Given the description of an element on the screen output the (x, y) to click on. 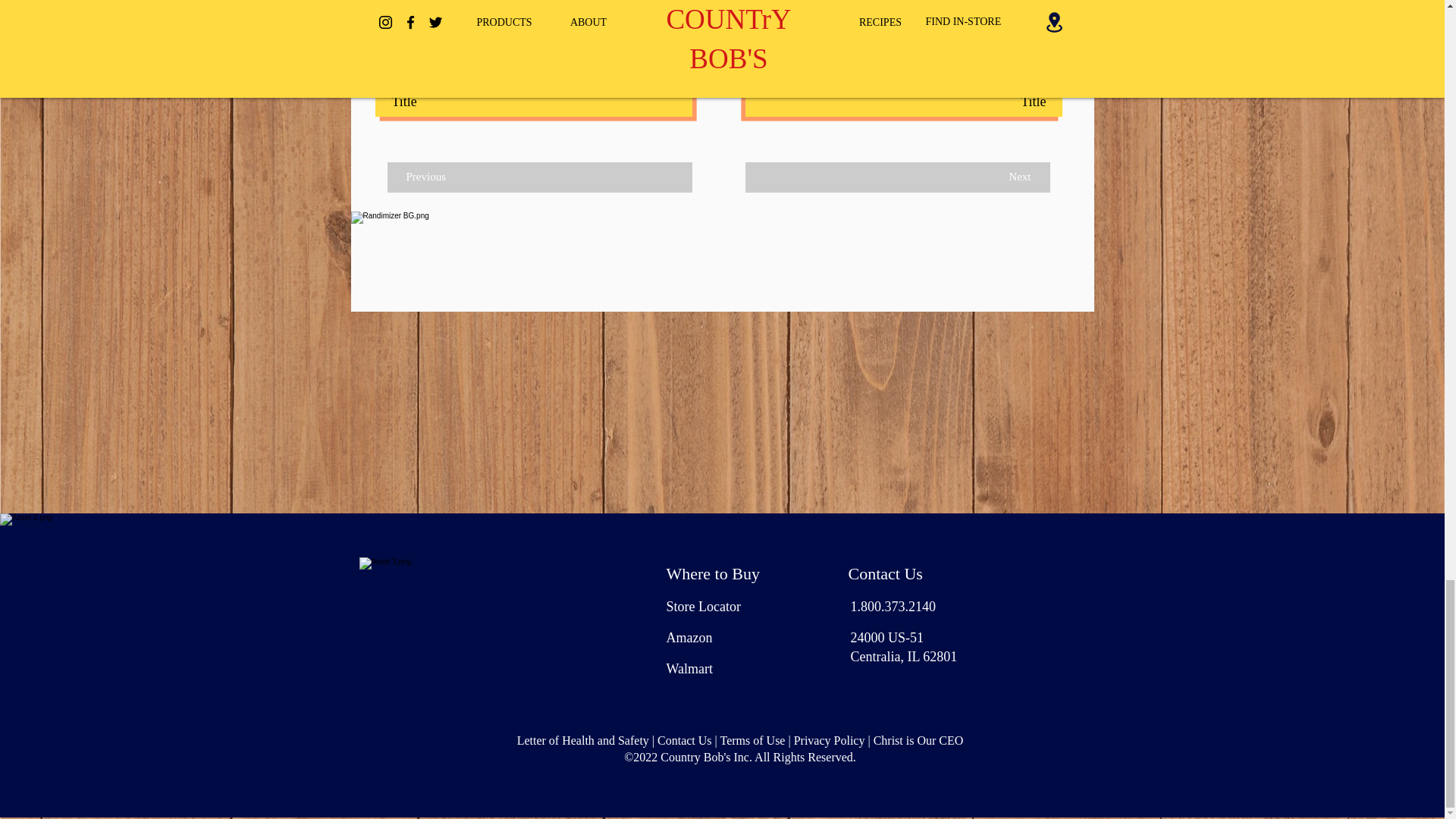
Contact Us (684, 739)
Privacy Policy (828, 739)
Contact Us (884, 573)
Amazon (688, 637)
Store Locator (702, 606)
Letter of Health and Safety (582, 739)
Terms of Use (753, 739)
Walmart (689, 668)
